Given the description of an element on the screen output the (x, y) to click on. 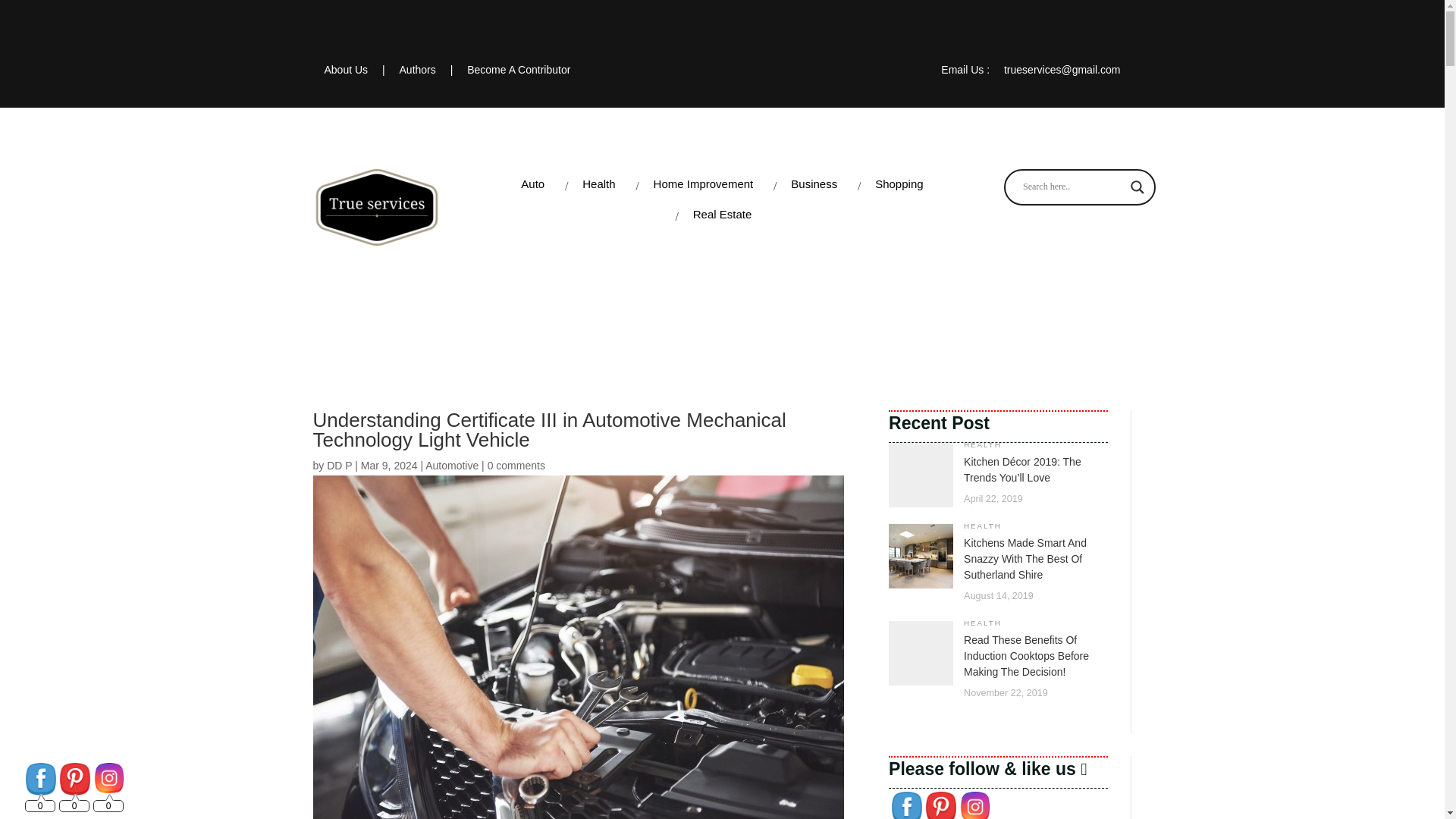
Pinterest (941, 805)
Auto (532, 183)
About Us (347, 69)
November 22, 2019 (1005, 692)
April 22, 2019 (993, 498)
Home Improvement (703, 183)
Shopping (898, 183)
Automotive (452, 465)
Posts by DD P (339, 465)
Instagram (974, 805)
